Given the description of an element on the screen output the (x, y) to click on. 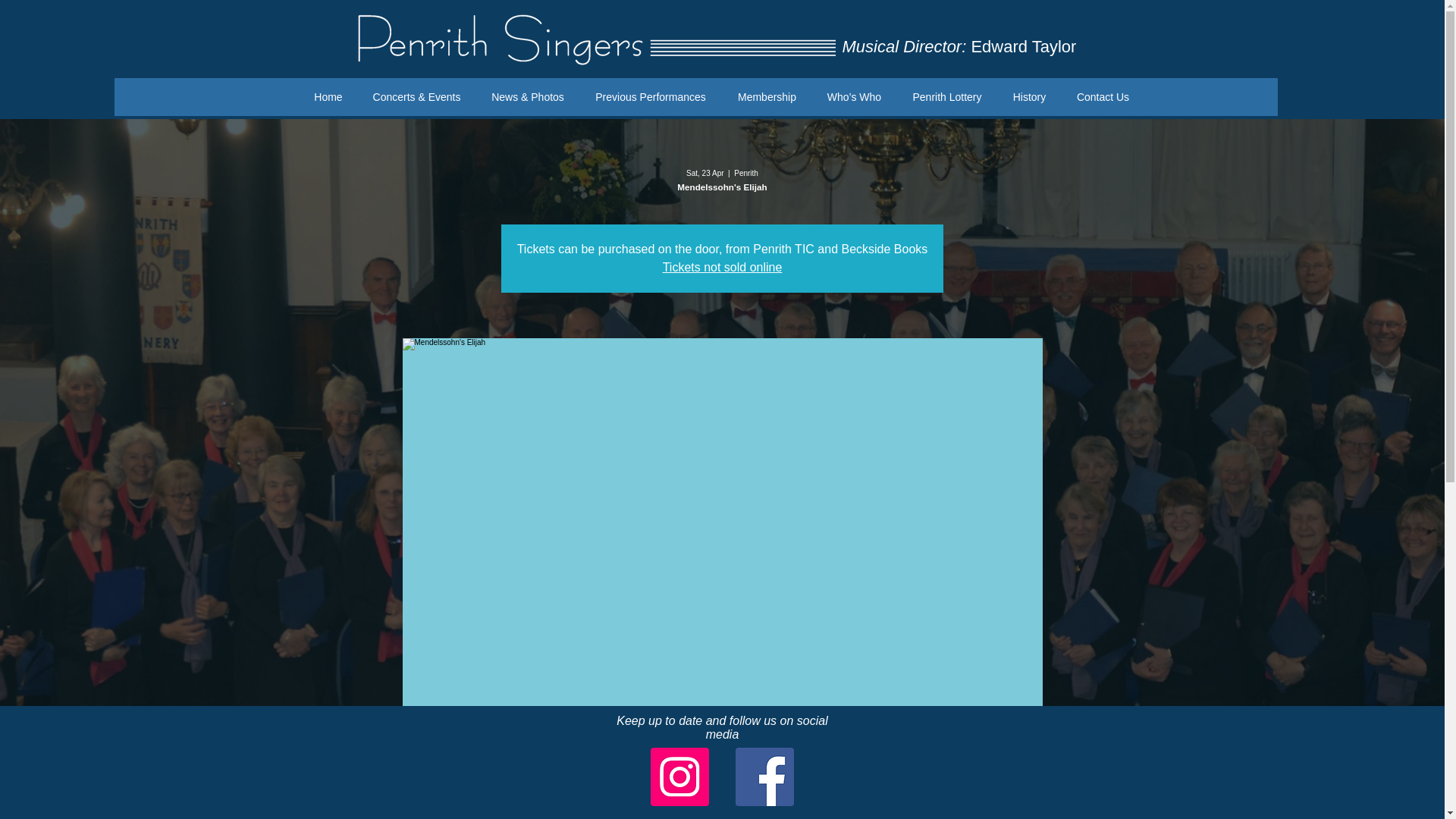
Membership (767, 96)
History (1029, 96)
Musical Director: Edward Taylor (958, 46)
Tickets not sold online (722, 267)
Previous Performances (650, 96)
View Homepage (592, 39)
Contact Us (1101, 96)
Home (327, 96)
Penrith Lottery (946, 96)
